Given the description of an element on the screen output the (x, y) to click on. 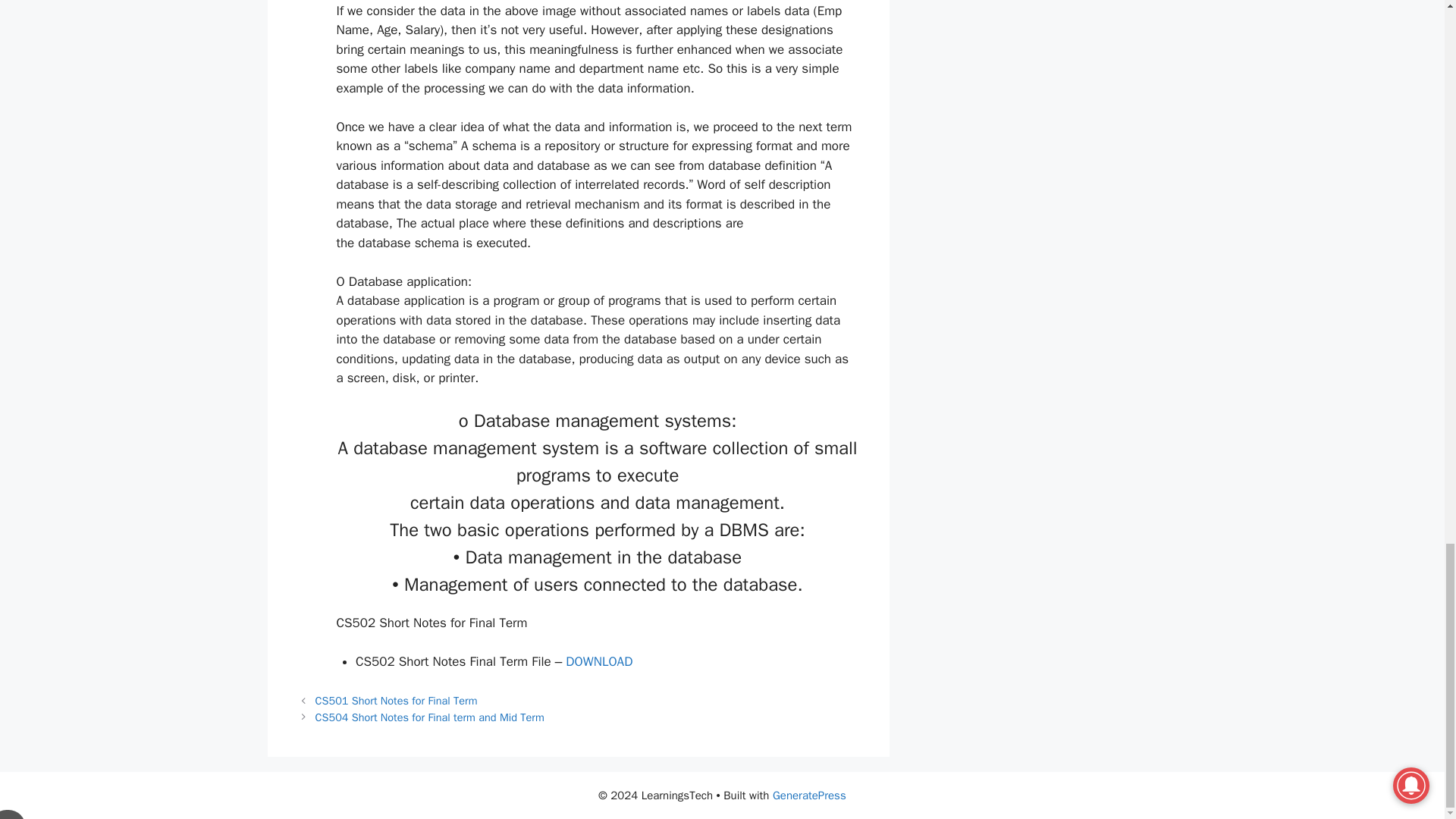
CS501 Short Notes for Final Term (396, 700)
DOWNLOAD (598, 661)
CS504 Short Notes for Final term and Mid Term (429, 716)
